Given the description of an element on the screen output the (x, y) to click on. 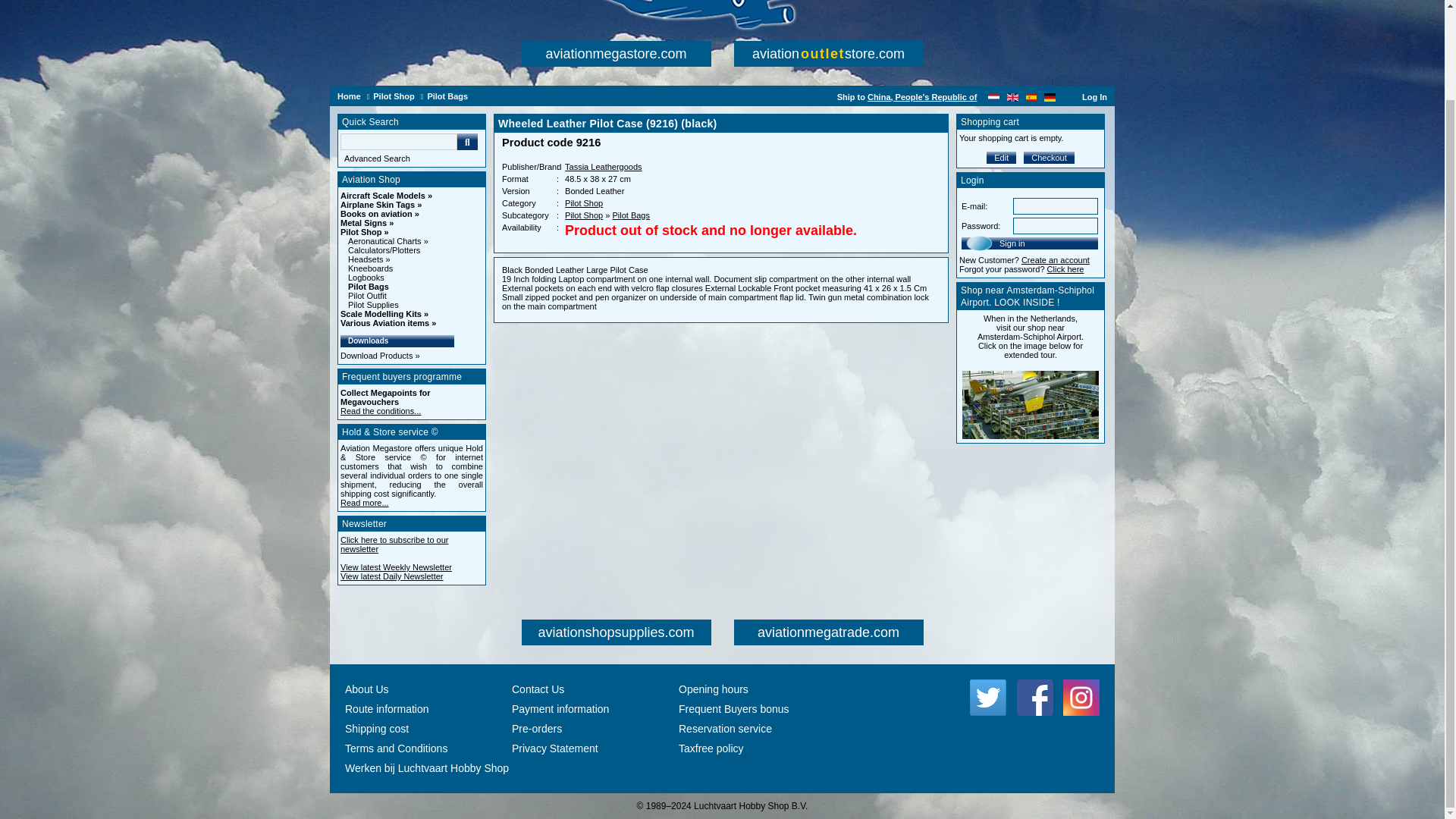
Aeronautical Charts (387, 240)
Aircraft Scale Models (386, 194)
Edit (1001, 157)
Logbooks (365, 276)
Pilot Shop (583, 203)
Pilot Outfit (367, 295)
China, People's Republic of (921, 96)
Log In (1093, 96)
Checkout (1048, 157)
Various Aviation items (387, 322)
Deutsch (1049, 96)
Metal Signs (366, 222)
Tassia Leathergoods (603, 166)
Aviation Megastore (722, 15)
Nederlands (993, 96)
